Given the description of an element on the screen output the (x, y) to click on. 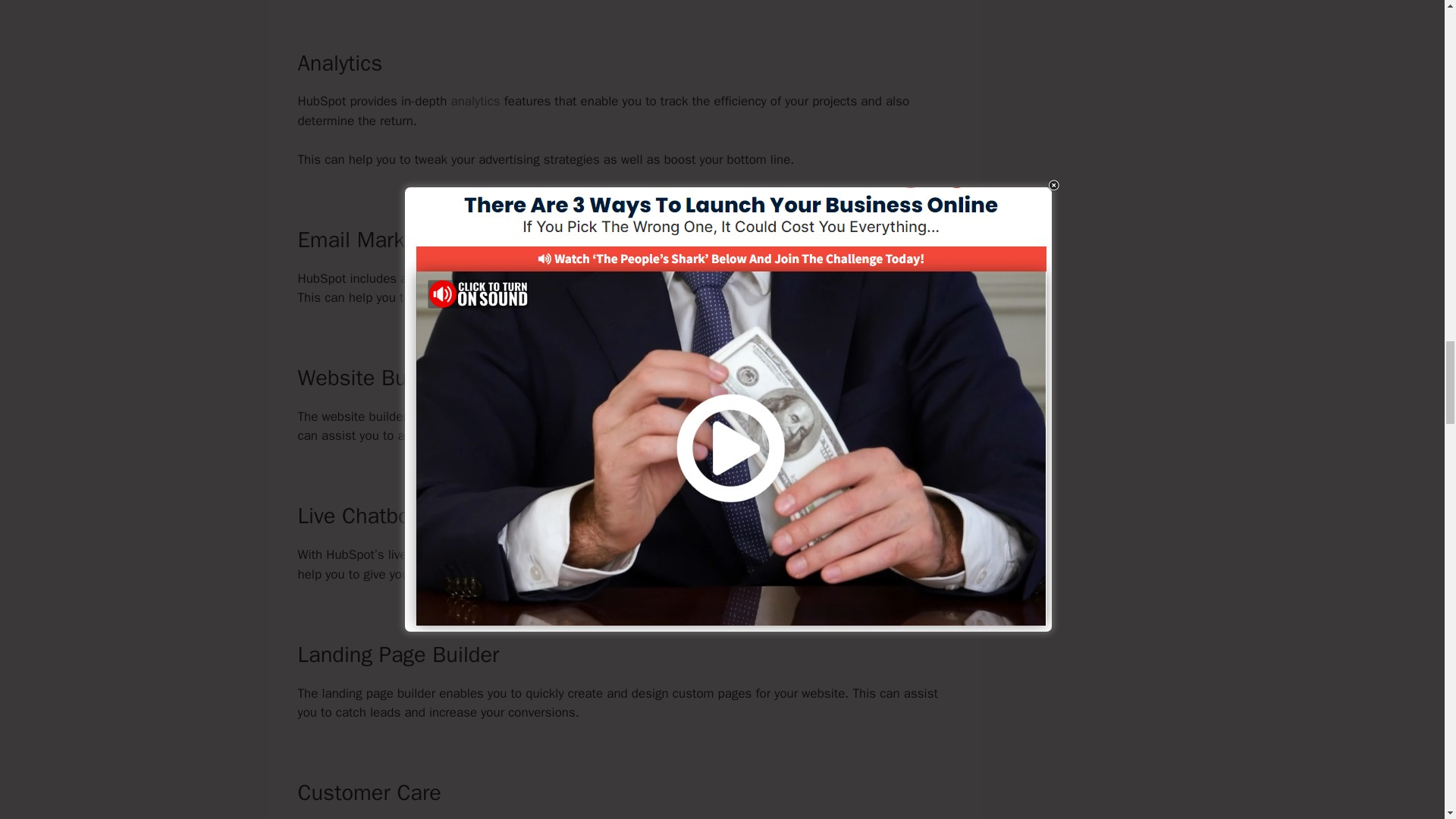
emails (816, 278)
analytics (474, 100)
